Given the description of an element on the screen output the (x, y) to click on. 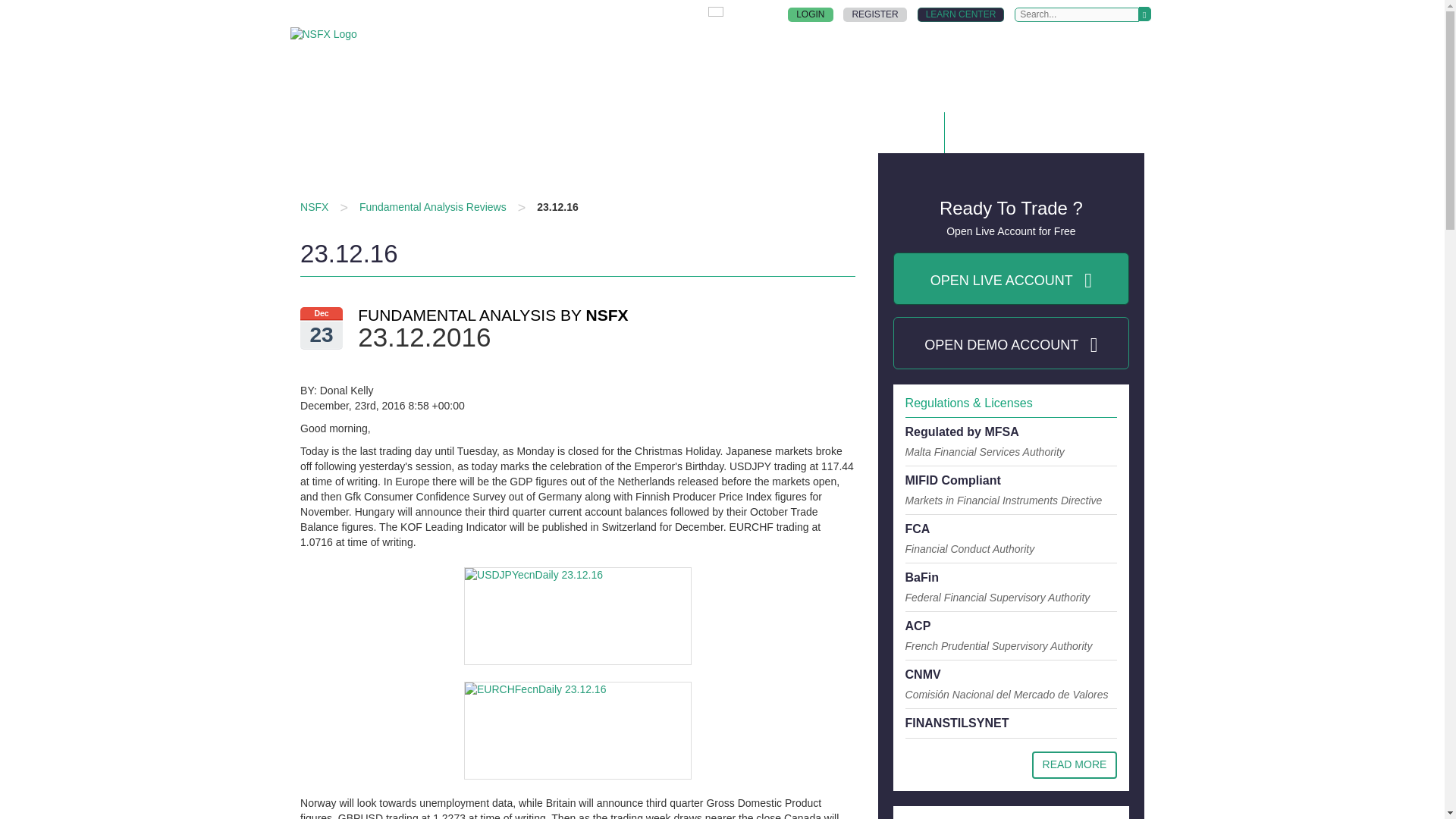
REGISTER (833, 74)
LEARN CENTER (874, 14)
Fundamental Analysis Reviews (960, 14)
Live Chat with our Forex Trading Pro's (432, 206)
LOGIN (652, 14)
TRADING TOOLS (809, 14)
23.12.16 (737, 44)
Regulations and Licenses (557, 206)
LIVE CHAT (1075, 764)
